Given the description of an element on the screen output the (x, y) to click on. 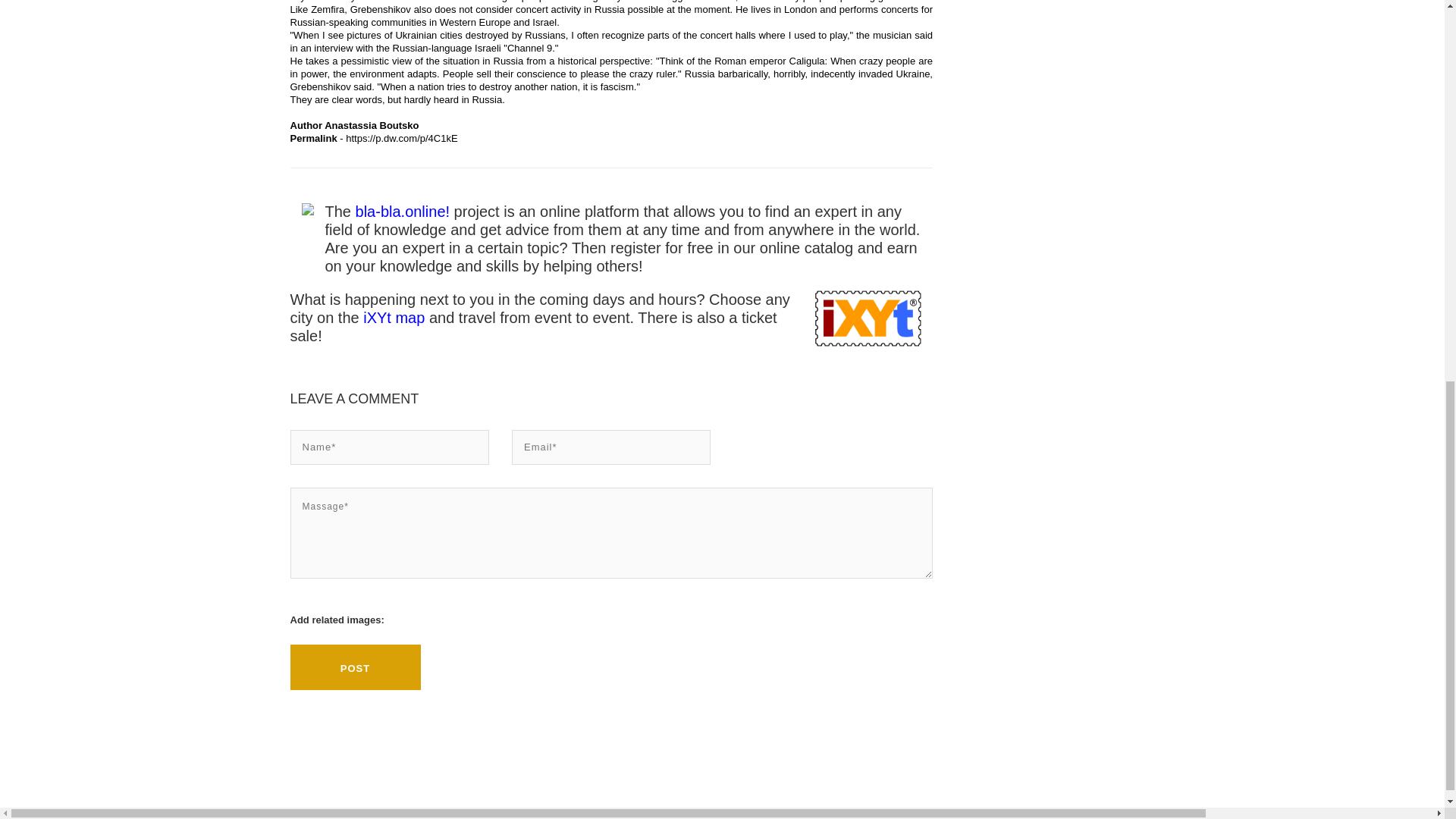
POST (354, 667)
bla-bla.online! (402, 211)
iXYt map (395, 317)
